Given the description of an element on the screen output the (x, y) to click on. 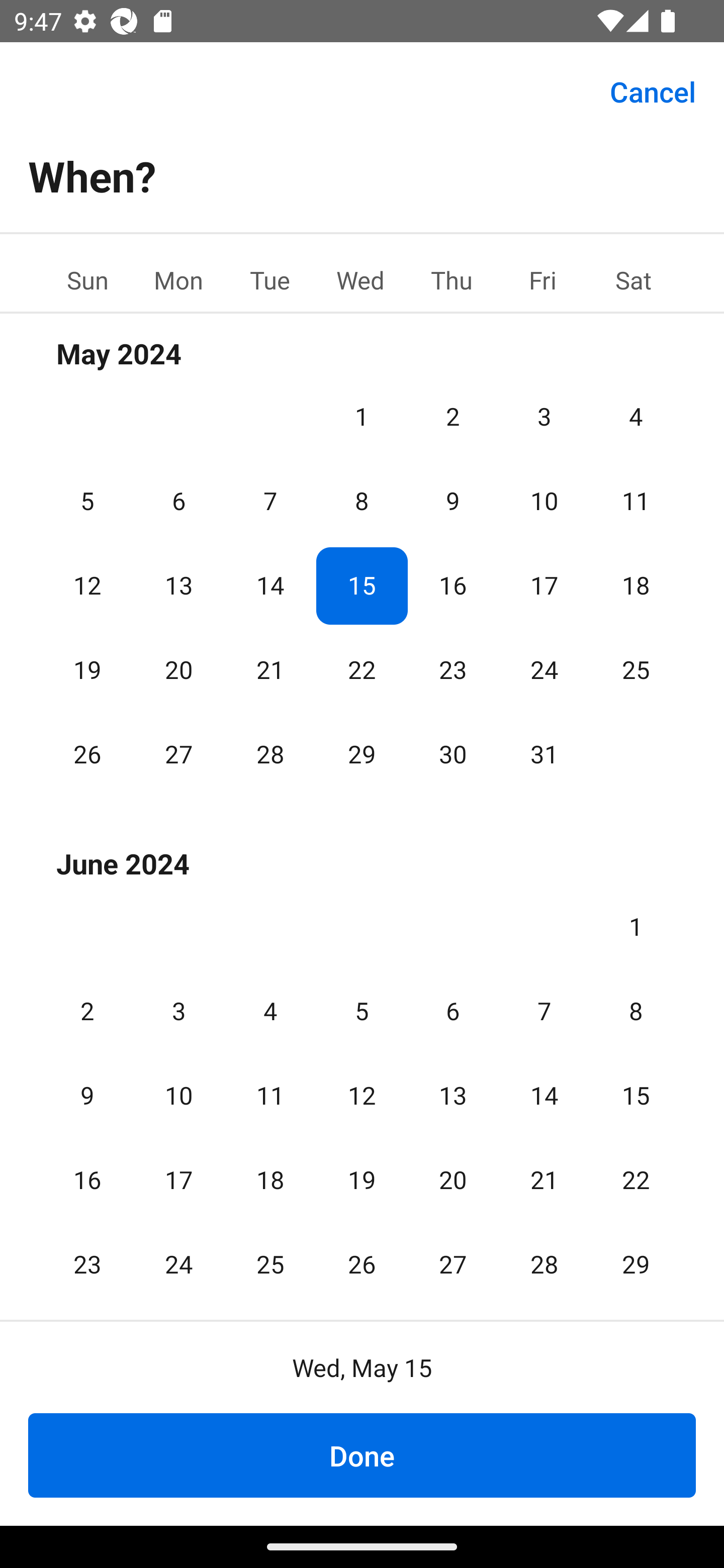
Cancel (652, 90)
Done (361, 1454)
